Given the description of an element on the screen output the (x, y) to click on. 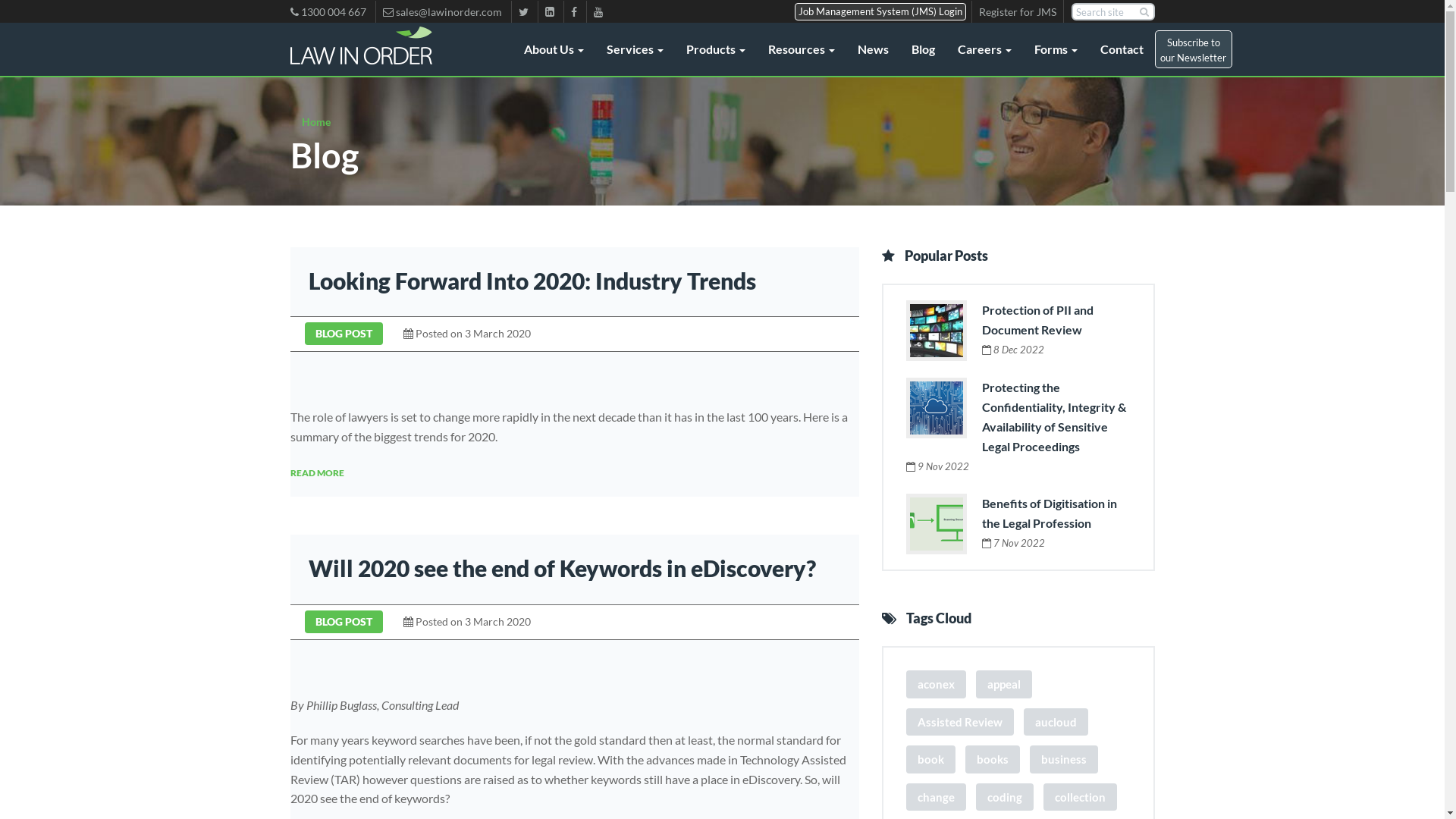
appeal Element type: text (1003, 684)
Protection of PII and Document Review Element type: text (1036, 319)
Forms Element type: text (1055, 49)
Looking Forward Into 2020: Industry Trends Element type: text (531, 280)
Blog Element type: text (922, 49)
aucloud Element type: text (1055, 722)
1300 004 667 Element type: text (330, 11)
collection Element type: text (1080, 797)
sales@lawinorder.com Element type: text (442, 11)
READ MORE Element type: text (316, 472)
books Element type: text (991, 759)
News Element type: text (873, 49)
Services Element type: text (634, 49)
Assisted Review Element type: text (959, 722)
Law In Order logo Element type: hover (360, 45)
Register for JMS Element type: text (1017, 11)
Products Element type: text (715, 49)
About Us Element type: text (553, 49)
Home Element type: text (315, 121)
aconex Element type: text (935, 684)
coding Element type: text (1003, 797)
Subscribe to our Newsletter Element type: text (1192, 49)
business Element type: text (1063, 759)
Contact Element type: text (1121, 49)
Careers Element type: text (984, 49)
Will 2020 see the end of Keywords in eDiscovery? Element type: text (561, 567)
Benefits of Digitisation in the Legal Profession Element type: text (1048, 512)
book Element type: text (929, 759)
change Element type: text (935, 797)
Job Management System (JMS) Login Element type: text (880, 11)
Resources Element type: text (801, 49)
